Given the description of an element on the screen output the (x, y) to click on. 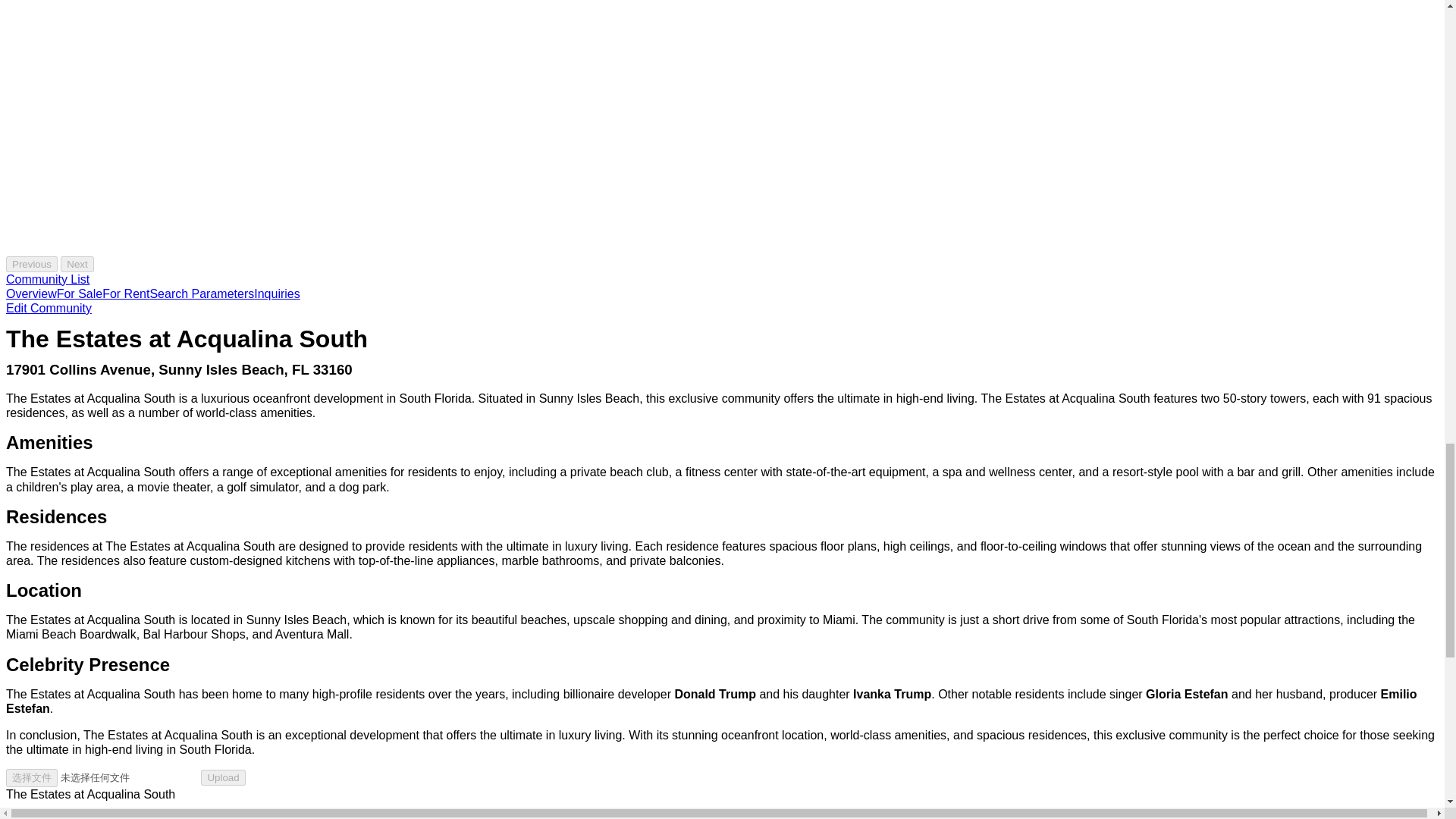
Previous (31, 263)
Edit Community (48, 308)
Upload (222, 777)
For Rent (125, 293)
Community List (46, 278)
Search Parameters (201, 293)
Upload (222, 777)
For Sale (78, 293)
Next (77, 263)
Inquiries (276, 293)
